Given the description of an element on the screen output the (x, y) to click on. 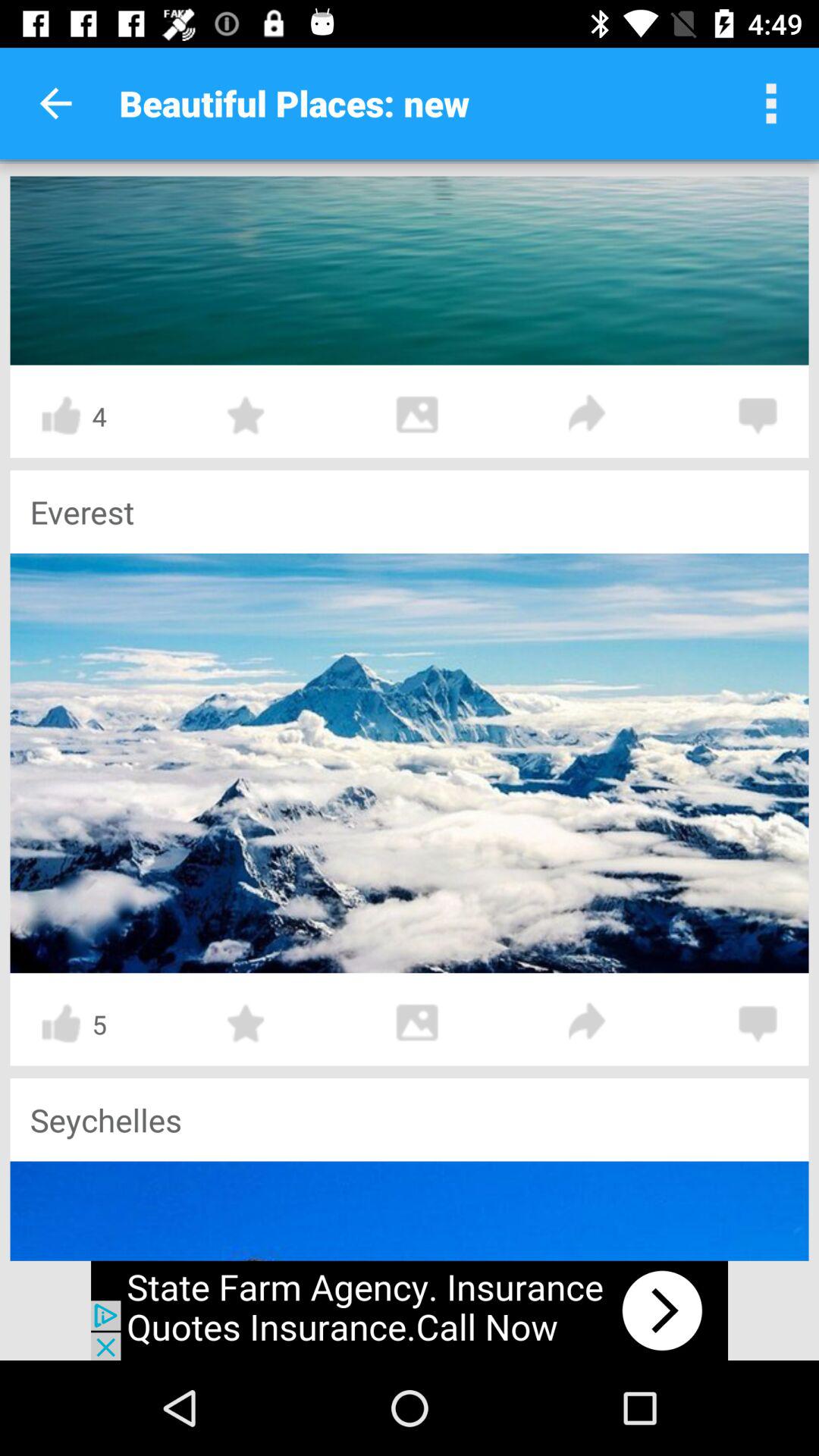
click to add comment (757, 415)
